Given the description of an element on the screen output the (x, y) to click on. 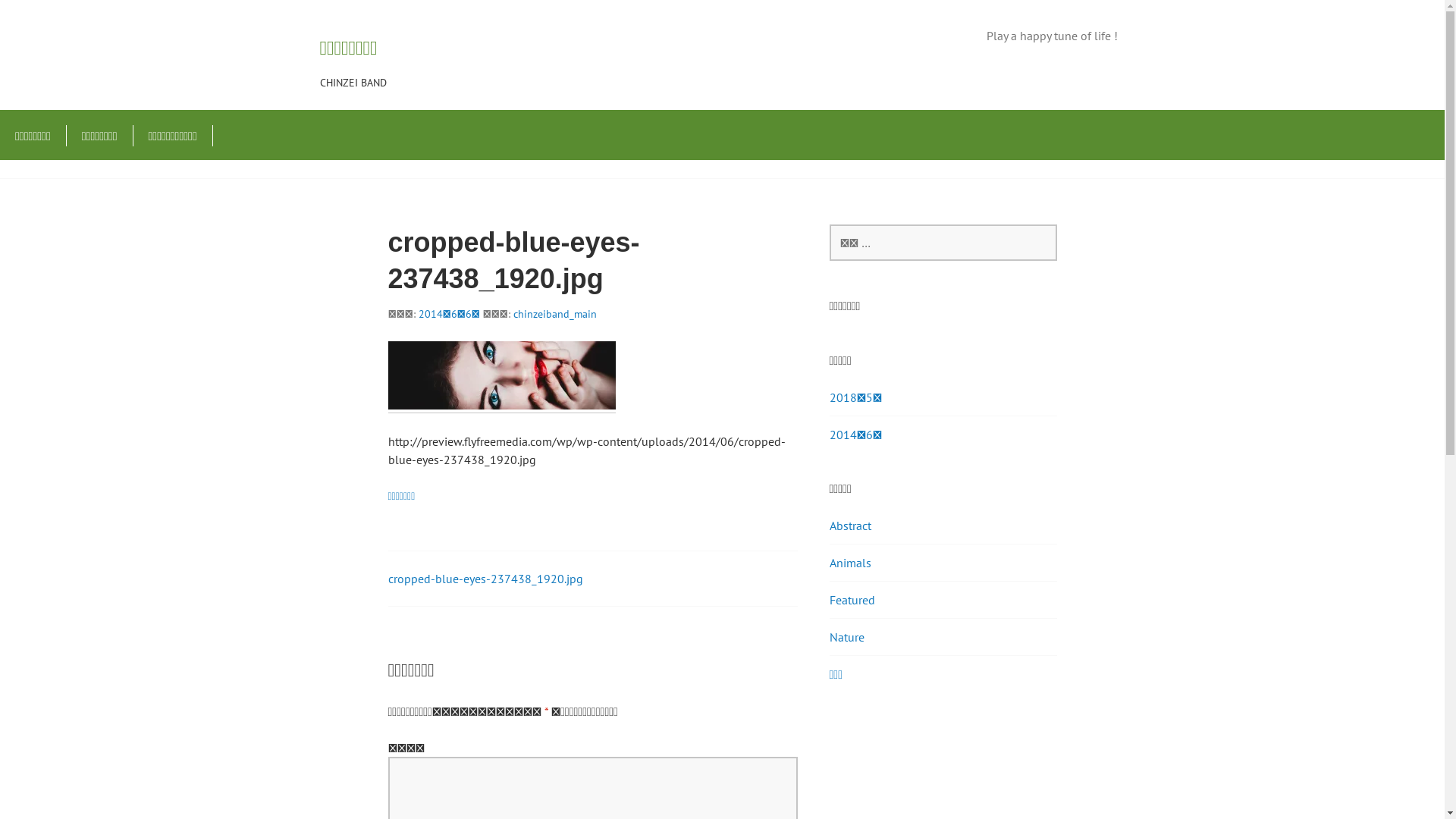
chinzeiband_main Element type: text (554, 313)
Nature Element type: text (846, 636)
cropped-blue-eyes-237438_1920.jpg Element type: text (485, 578)
Abstract Element type: text (850, 525)
Featured Element type: text (852, 599)
Animals Element type: text (850, 562)
